Given the description of an element on the screen output the (x, y) to click on. 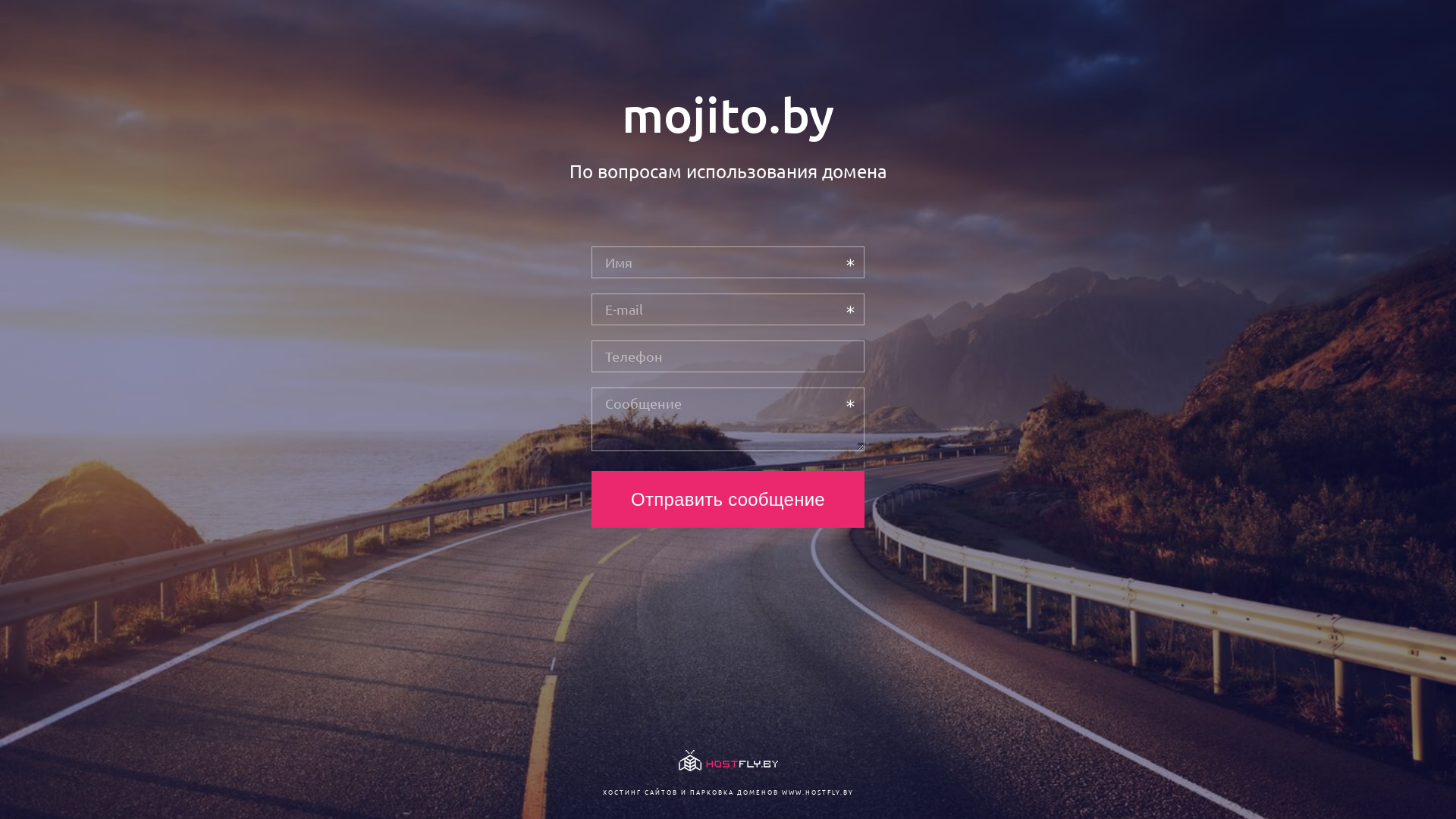
WWW.HOSTFLY.BY Element type: text (817, 791)
